Given the description of an element on the screen output the (x, y) to click on. 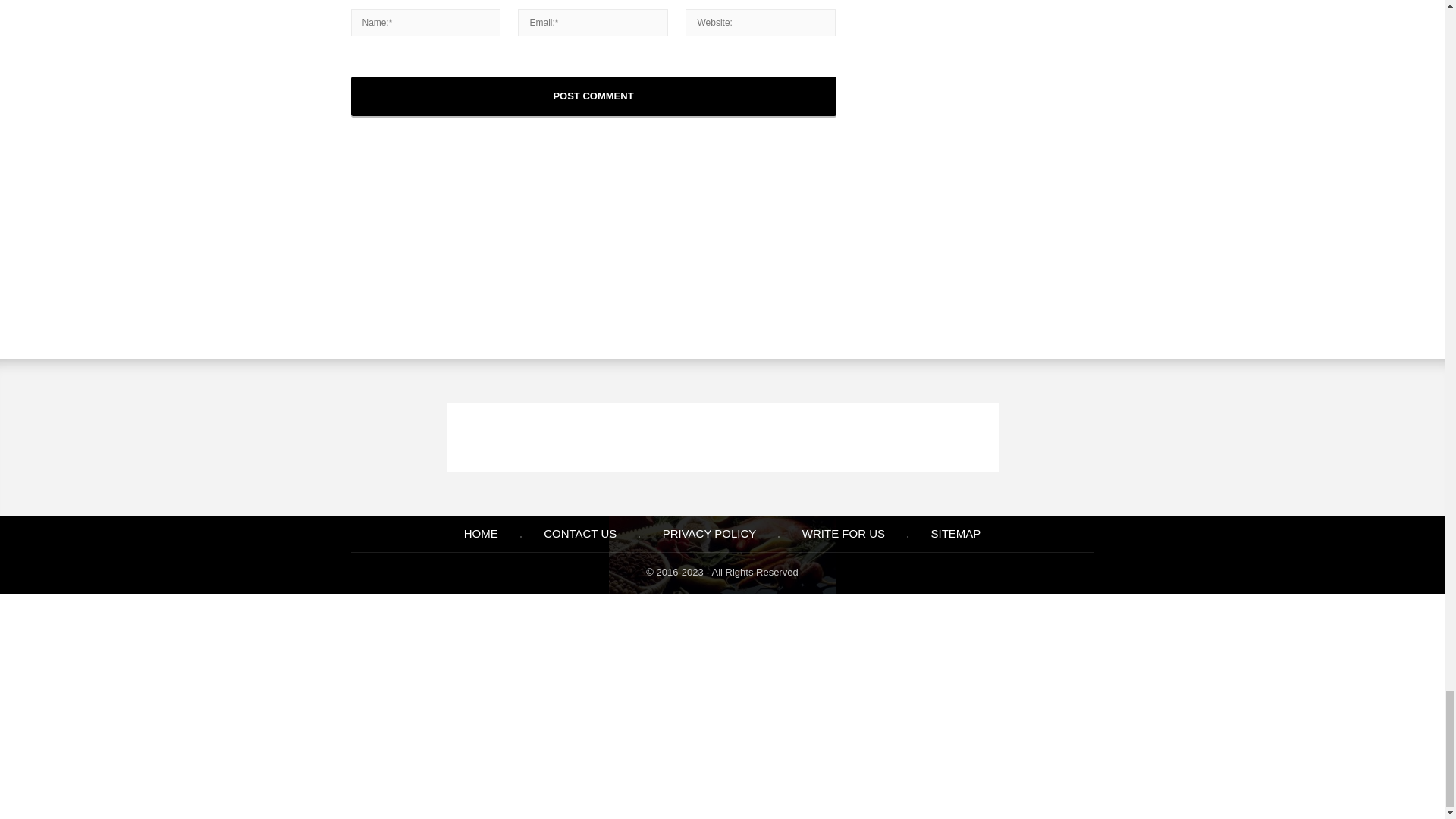
Post Comment (592, 96)
